Given the description of an element on the screen output the (x, y) to click on. 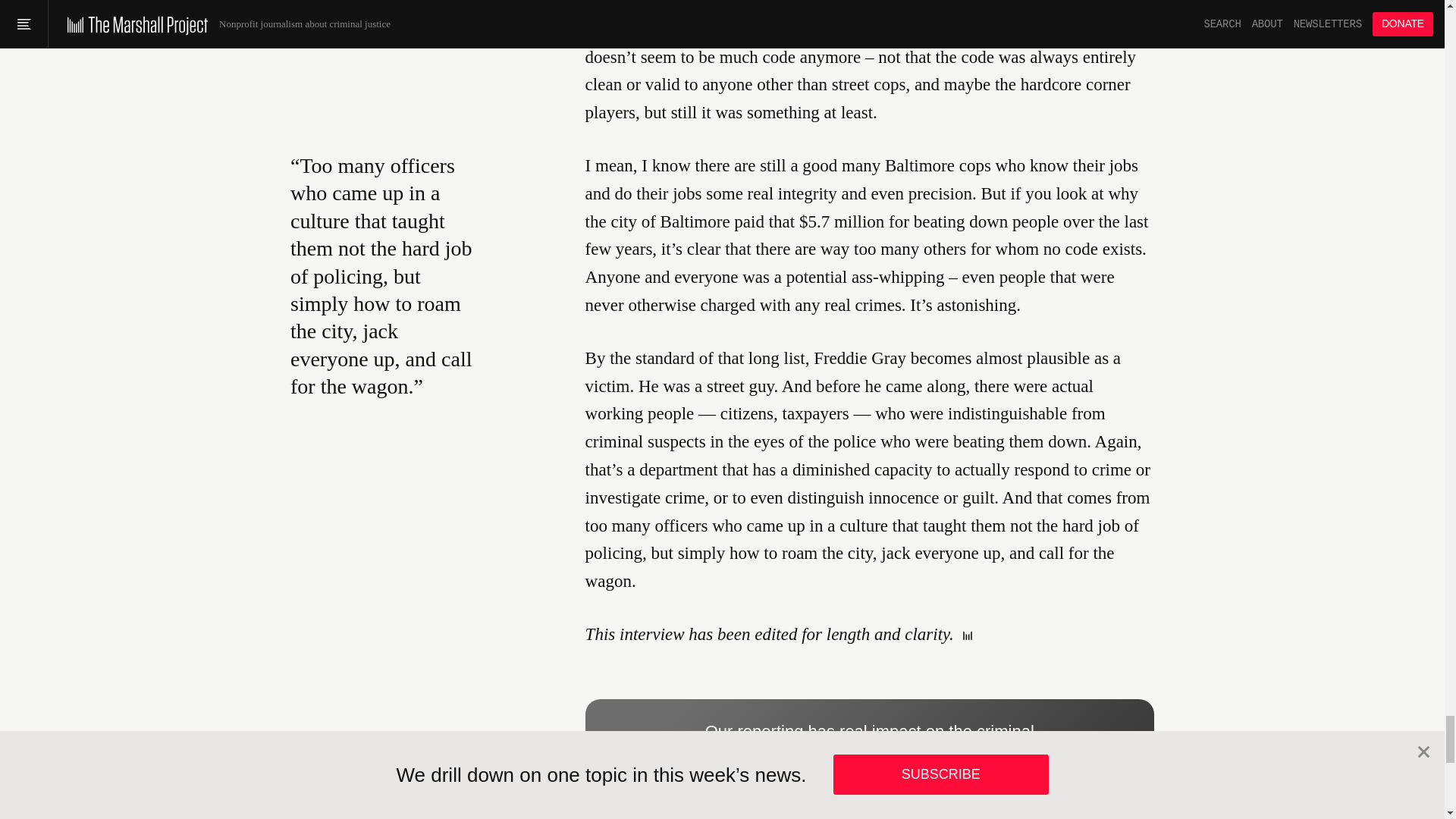
ARROW (911, 774)
